Given the description of an element on the screen output the (x, y) to click on. 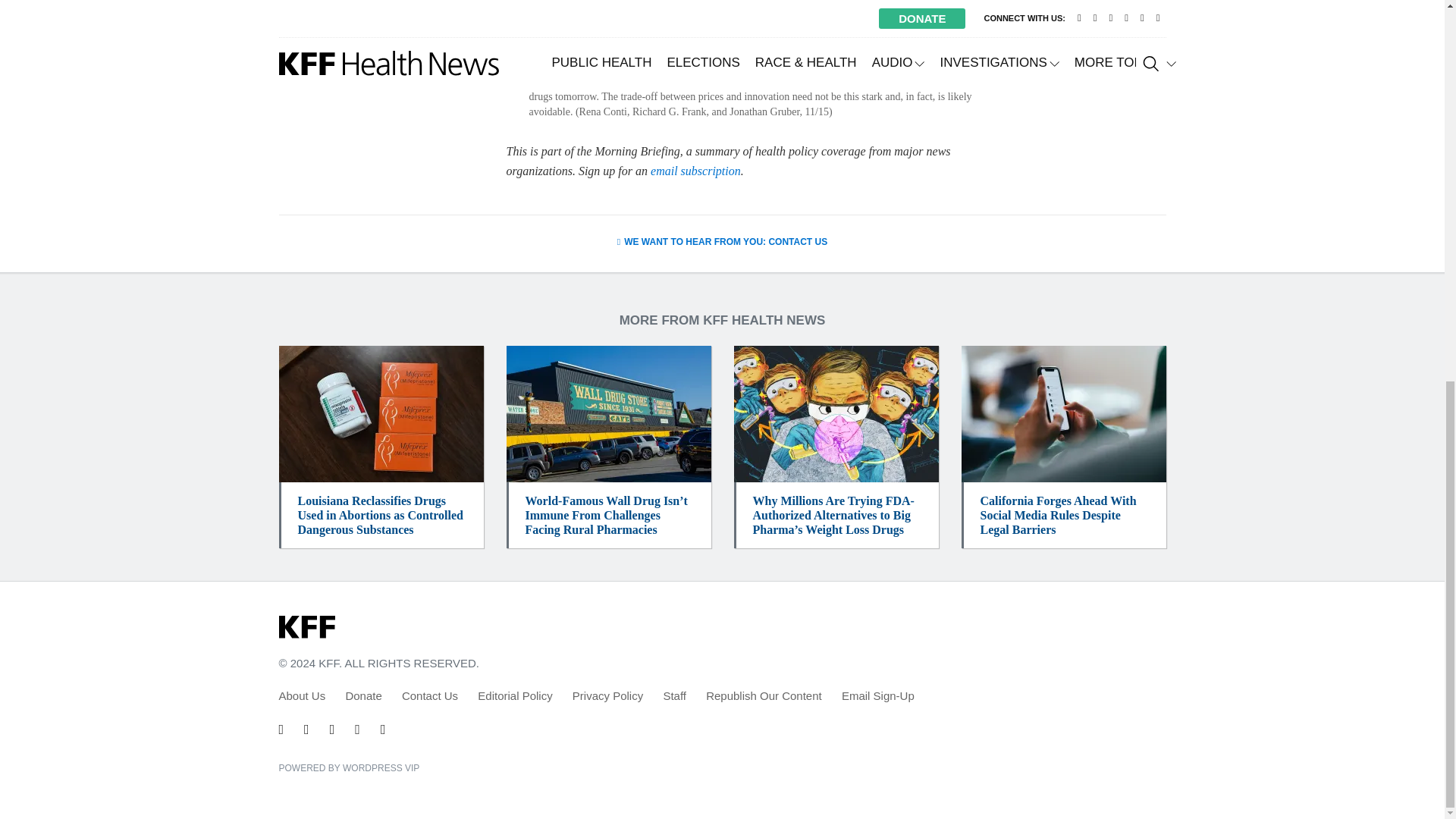
KFF (306, 627)
